Given the description of an element on the screen output the (x, y) to click on. 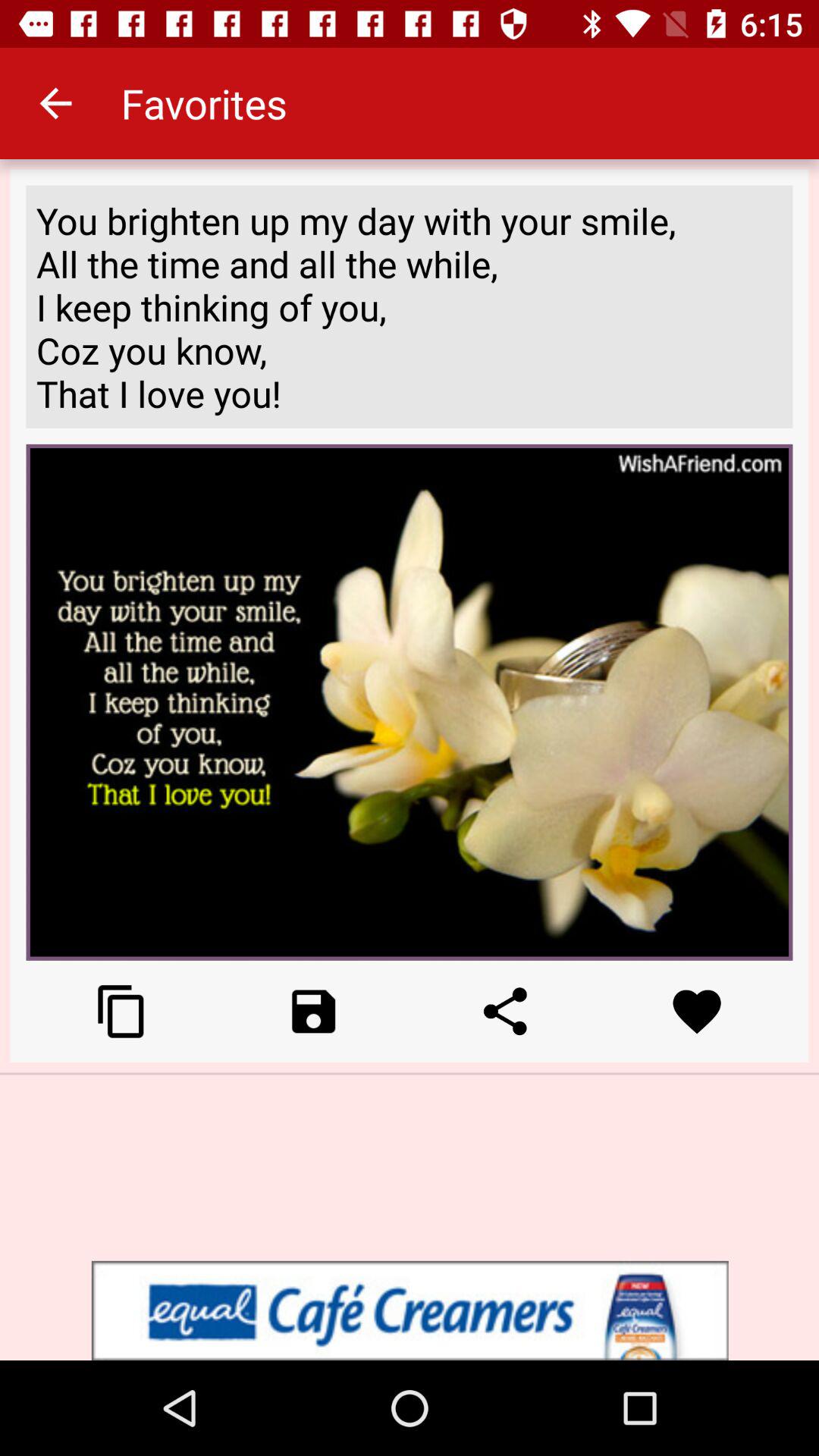
camera (313, 1011)
